Given the description of an element on the screen output the (x, y) to click on. 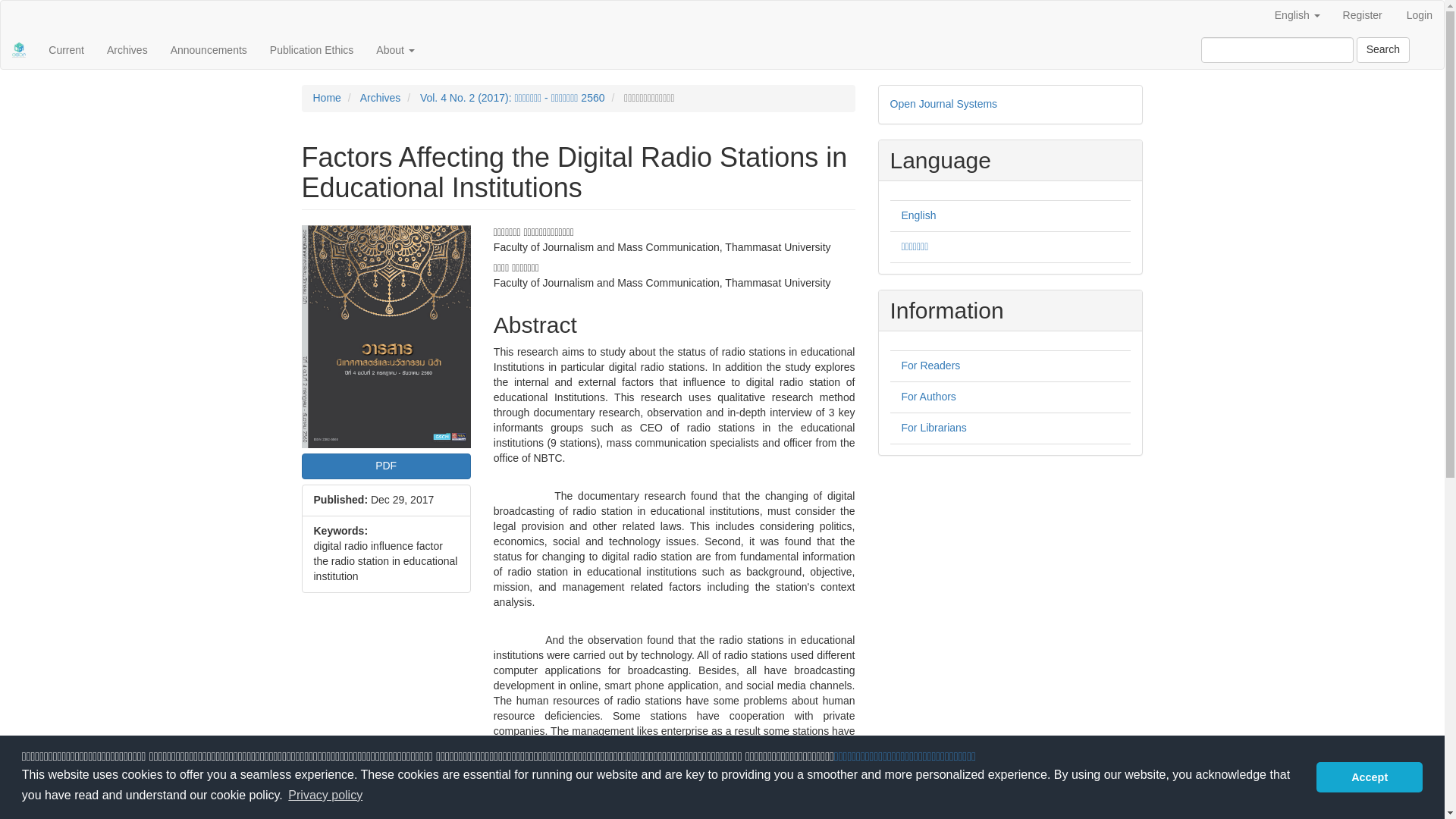
About (395, 49)
For Librarians (933, 427)
Current (66, 49)
PDF (385, 466)
Publication Ethics (312, 49)
Register (1362, 15)
Archives (380, 97)
Accept (1369, 777)
Archives (127, 49)
English (918, 215)
